Given the description of an element on the screen output the (x, y) to click on. 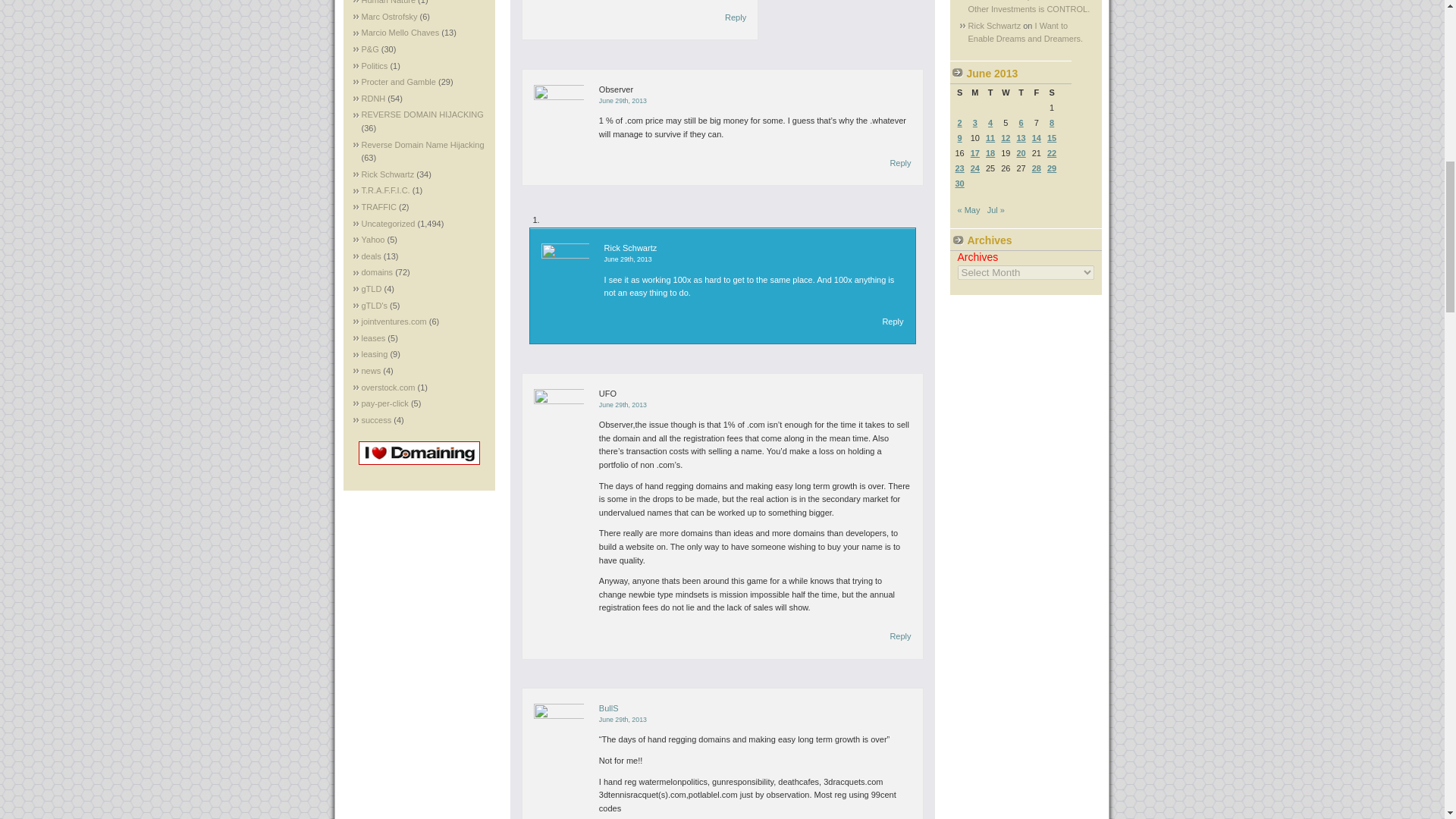
Procter and Gamble (398, 81)
Politics (374, 65)
Wednesday (1004, 92)
Tuesday (990, 92)
Thursday (1020, 92)
Monday (974, 92)
Human Nature (387, 2)
Friday (1036, 92)
Saturday (1051, 92)
RDNH (373, 98)
